Given the description of an element on the screen output the (x, y) to click on. 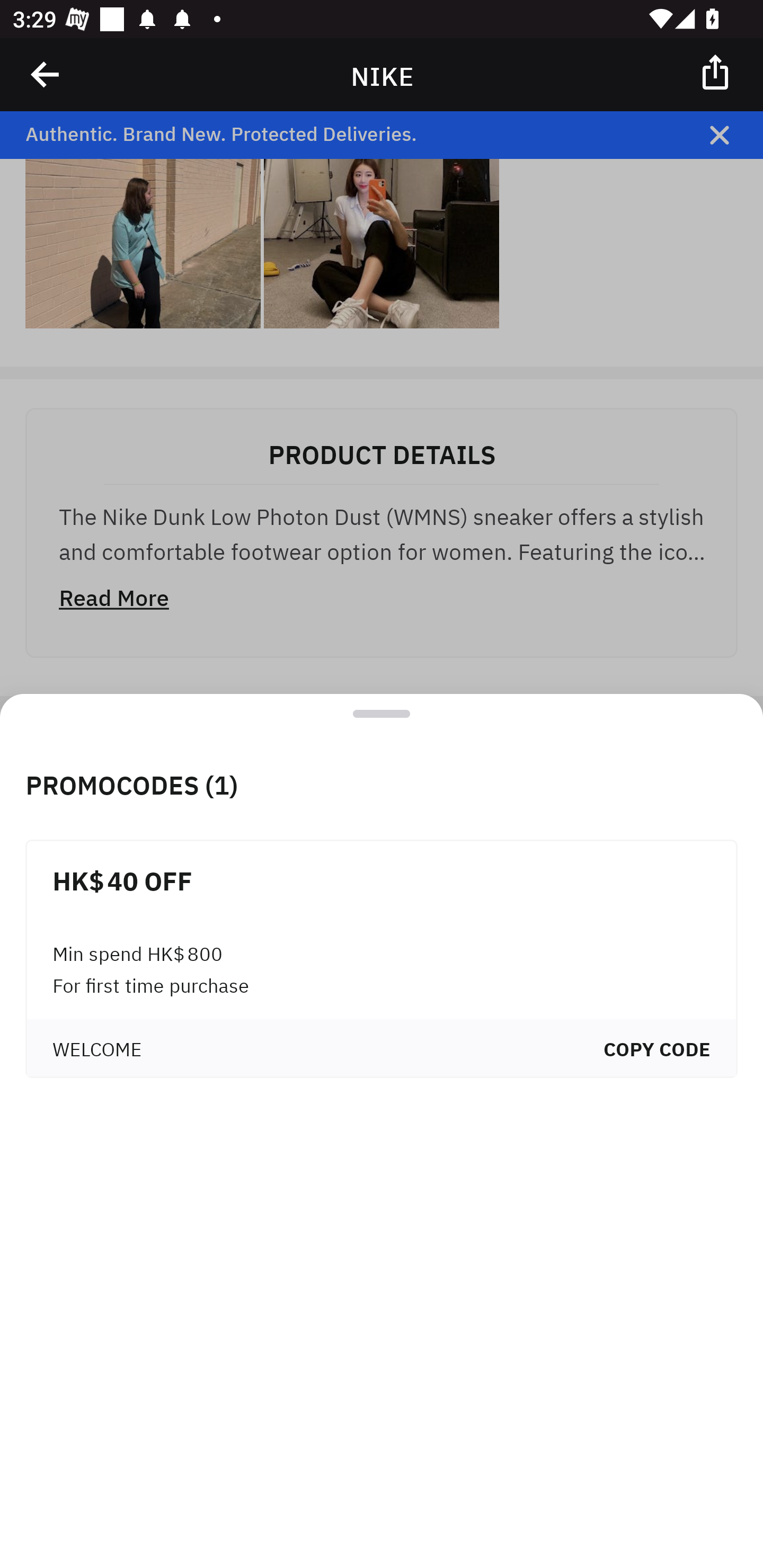
 (46, 74)
 (716, 70)
COPY CODE (656, 1047)
